Given the description of an element on the screen output the (x, y) to click on. 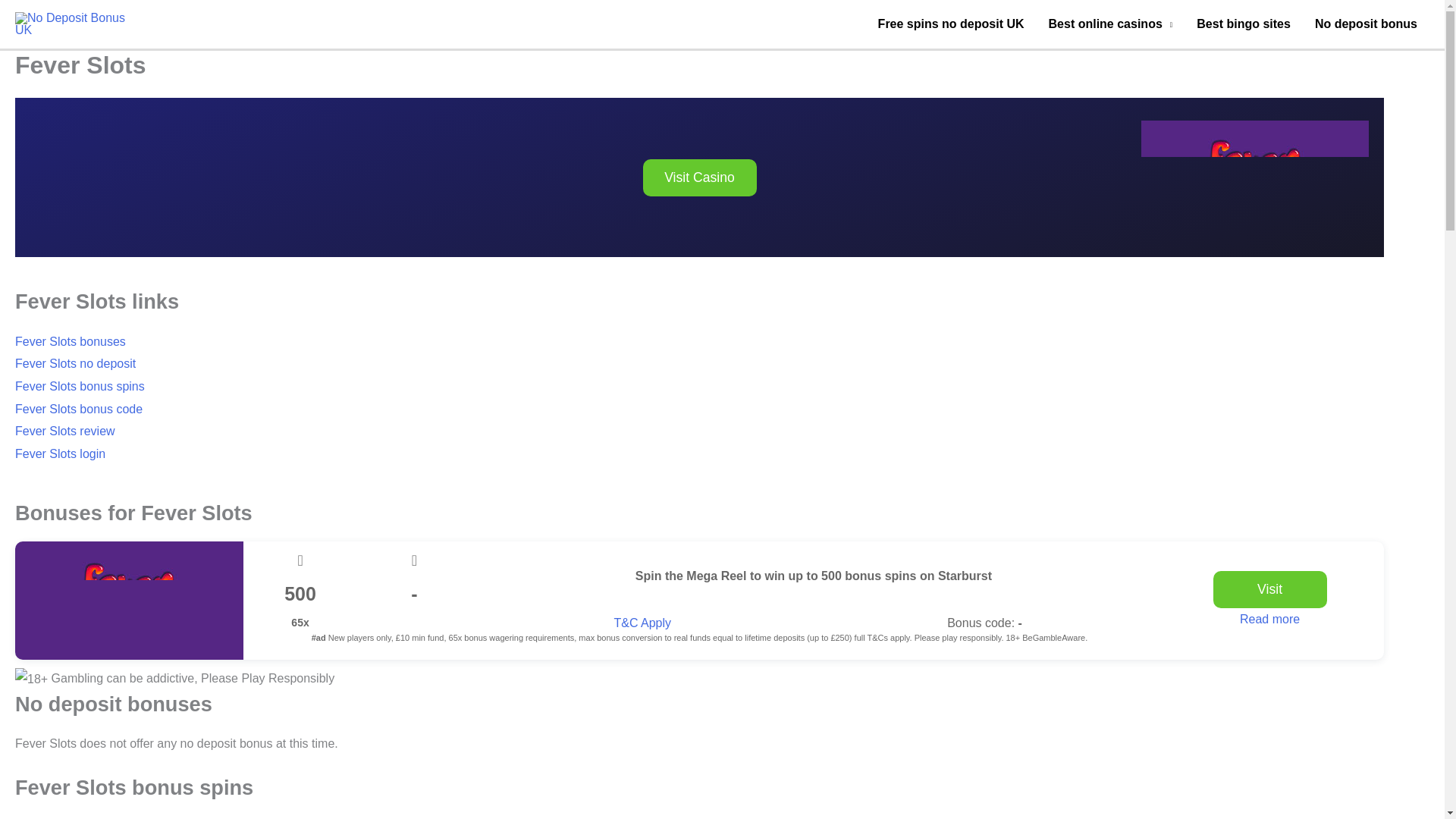
Fever Slots bonuses (69, 341)
Fever Slots bonus spins (79, 386)
Fever Slots no deposit (74, 363)
Fever Slots bonus code (78, 408)
No deposit bonus (1366, 24)
Fever Slots login (59, 453)
Fever Slots review (64, 431)
Free spins no deposit UK (951, 24)
Read more (1270, 618)
Best online casinos (1110, 24)
Visit (1269, 589)
Visit Casino (700, 177)
Best bingo sites (1244, 24)
